Given the description of an element on the screen output the (x, y) to click on. 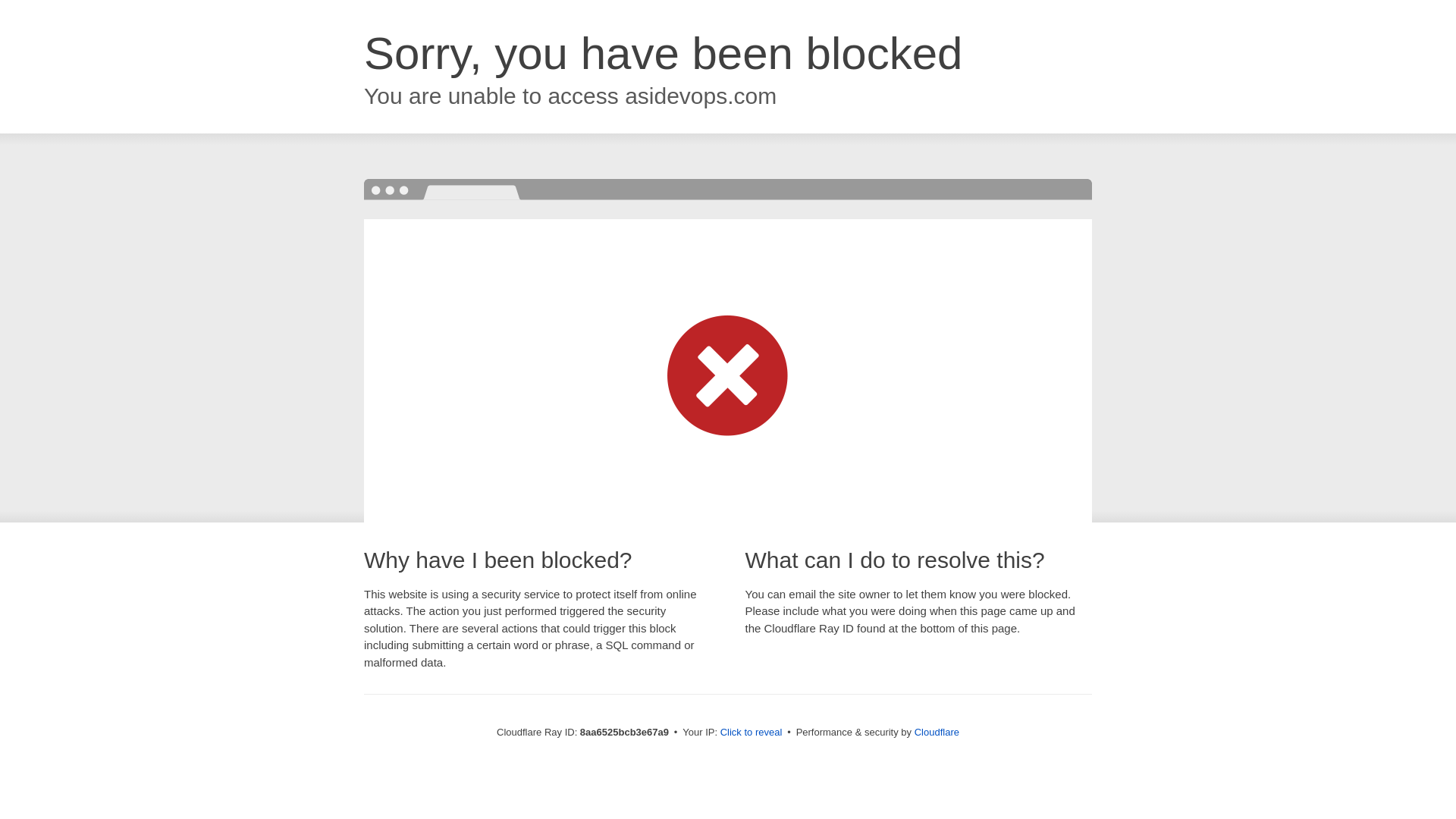
Cloudflare (936, 731)
Click to reveal (751, 732)
